Given the description of an element on the screen output the (x, y) to click on. 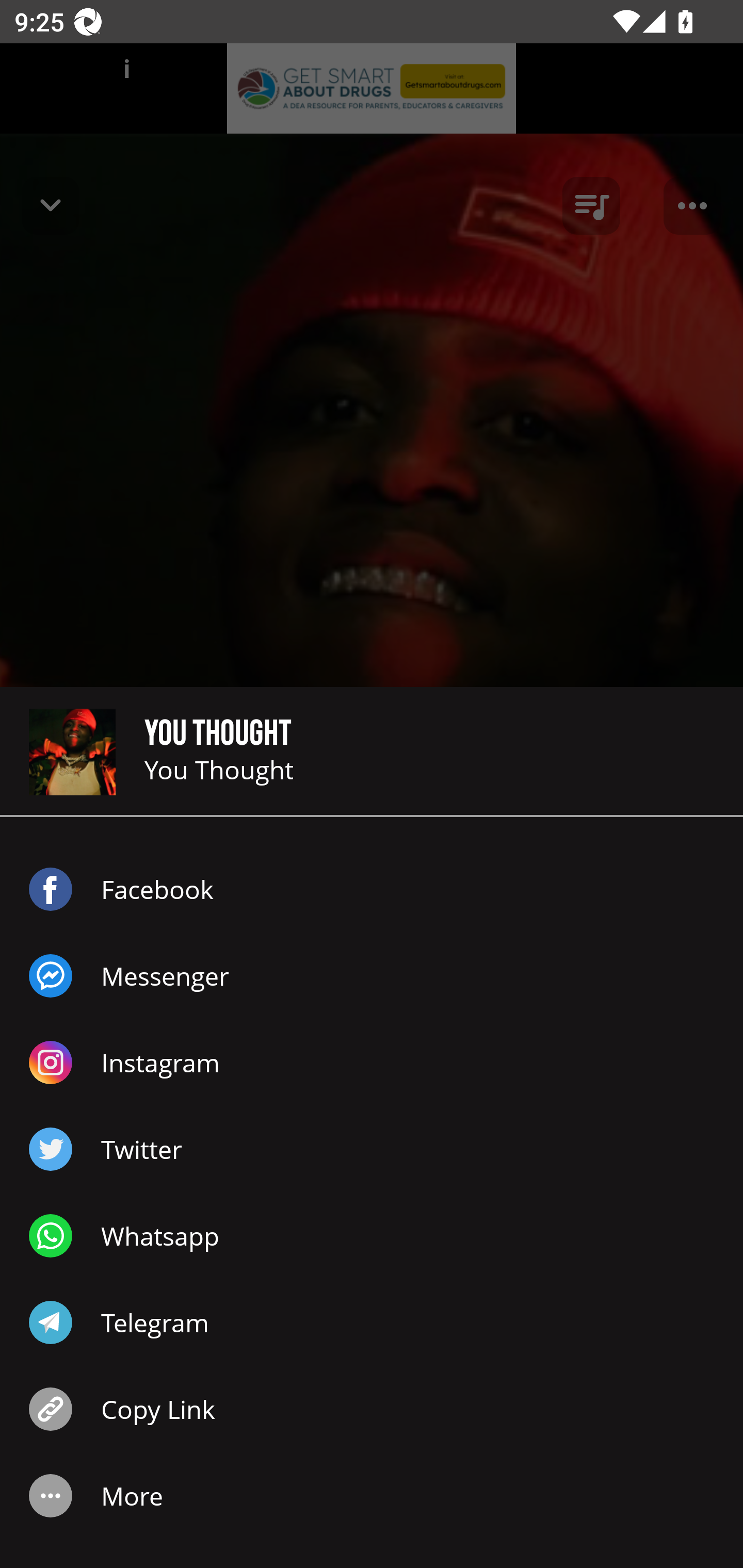
Facebook (371, 888)
Messenger (371, 975)
Instagram (371, 1062)
Twitter (371, 1149)
Whatsapp (371, 1236)
Telegram (371, 1322)
Copy Link (371, 1408)
More (371, 1495)
